Given the description of an element on the screen output the (x, y) to click on. 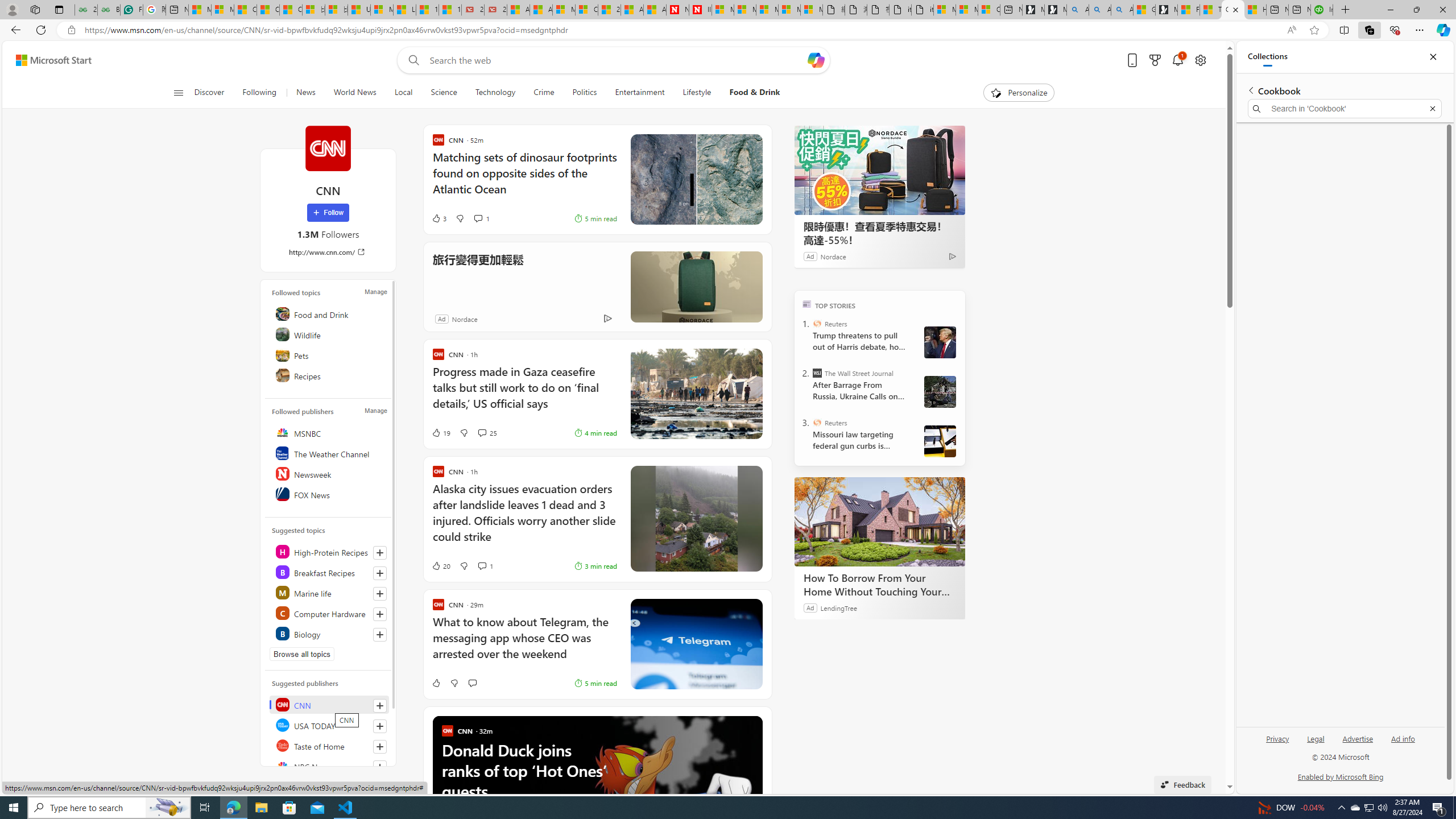
Ad (440, 318)
Exit search (1432, 108)
Follow this source (379, 766)
Personalize (1019, 92)
Skip to content (49, 59)
Follow this source (379, 767)
LendingTree (838, 607)
USA TODAY - MSN (359, 9)
View comments 25 Comment (481, 432)
Consumer Health Data Privacy Policy (988, 9)
